Given the description of an element on the screen output the (x, y) to click on. 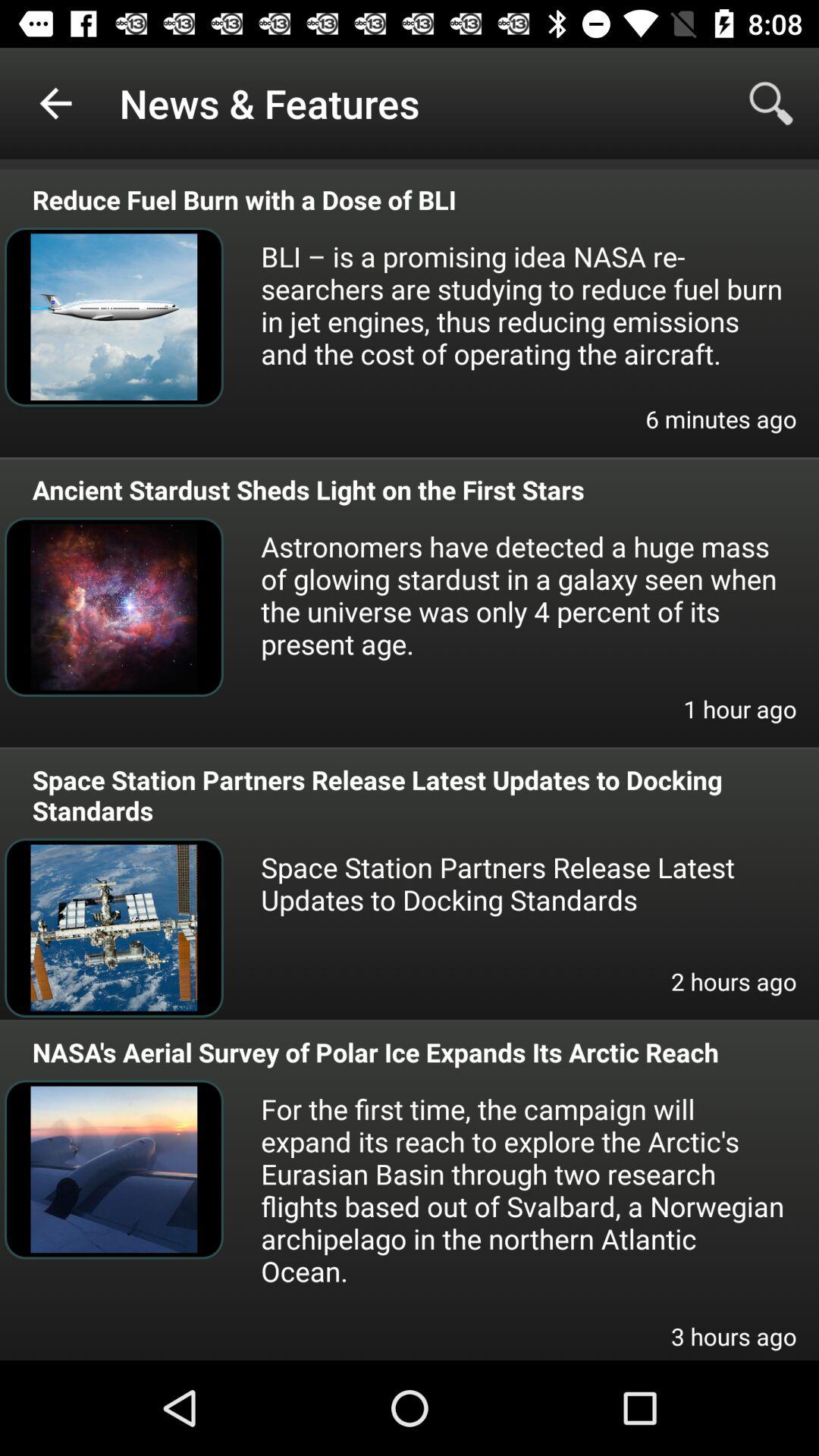
select astronomers have detected icon (523, 594)
